Given the description of an element on the screen output the (x, y) to click on. 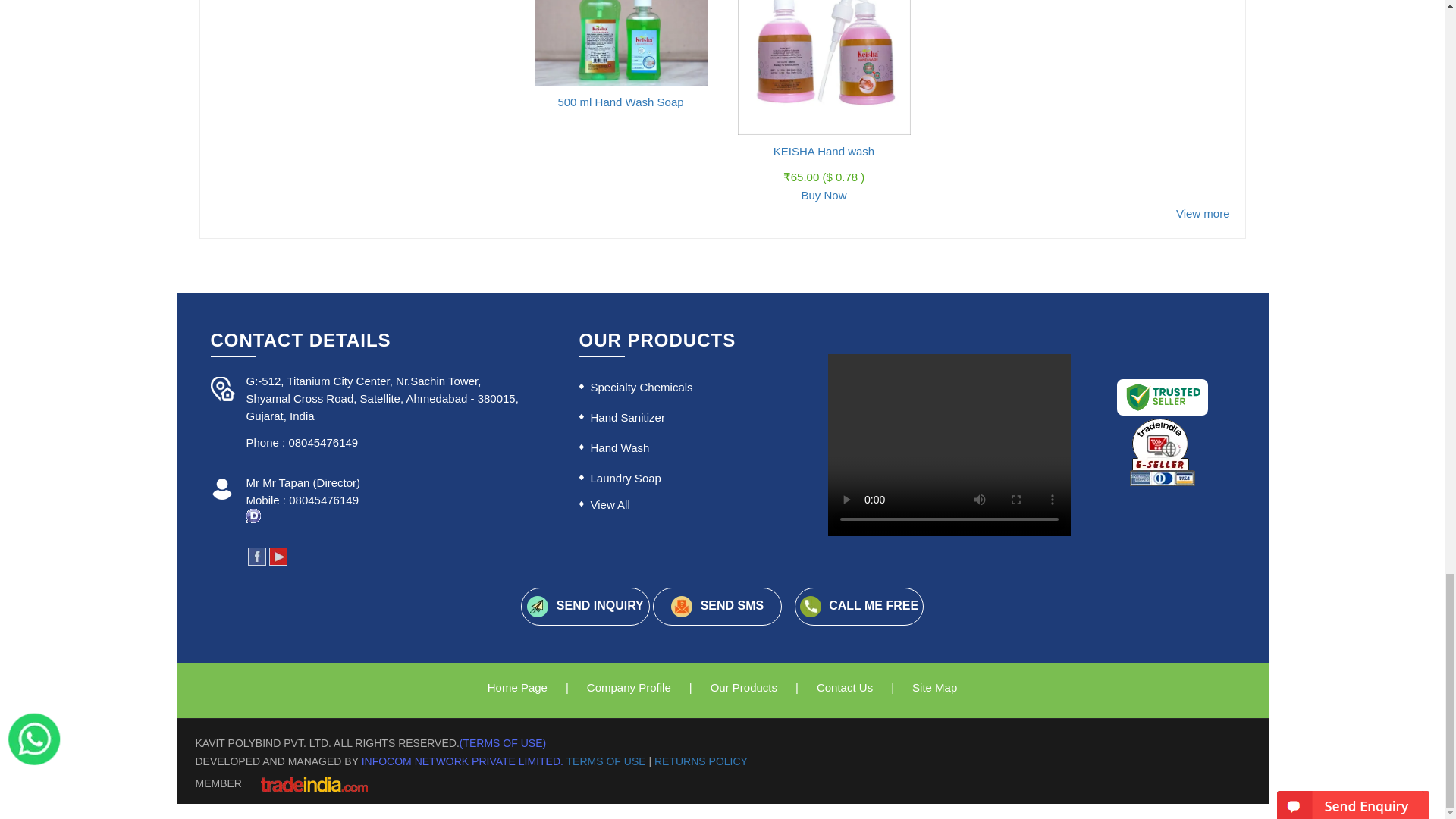
Accepts only Domestic Inquiries (253, 515)
